Given the description of an element on the screen output the (x, y) to click on. 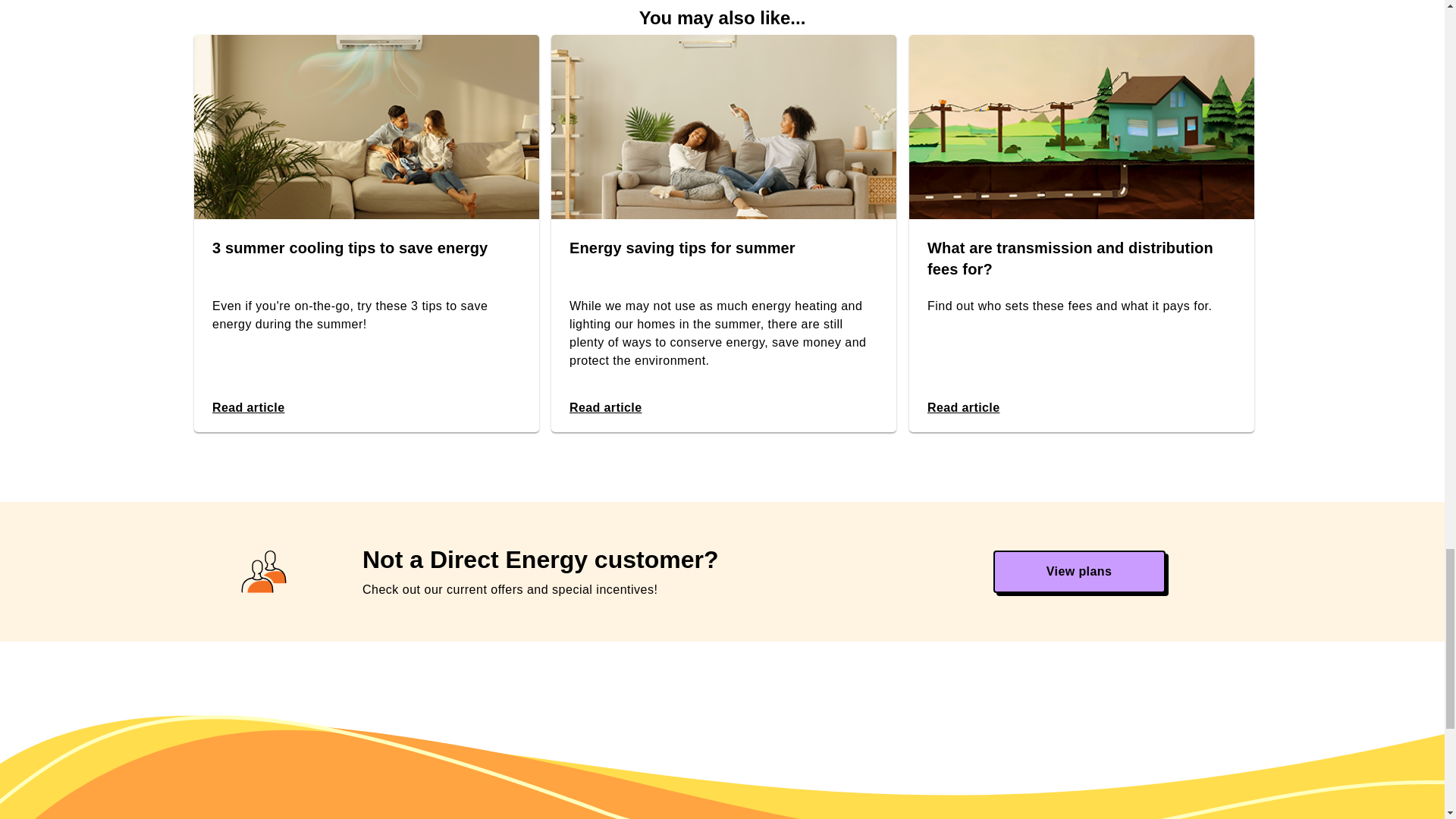
Read article (248, 407)
Read article (605, 407)
Read article (962, 407)
